Given the description of an element on the screen output the (x, y) to click on. 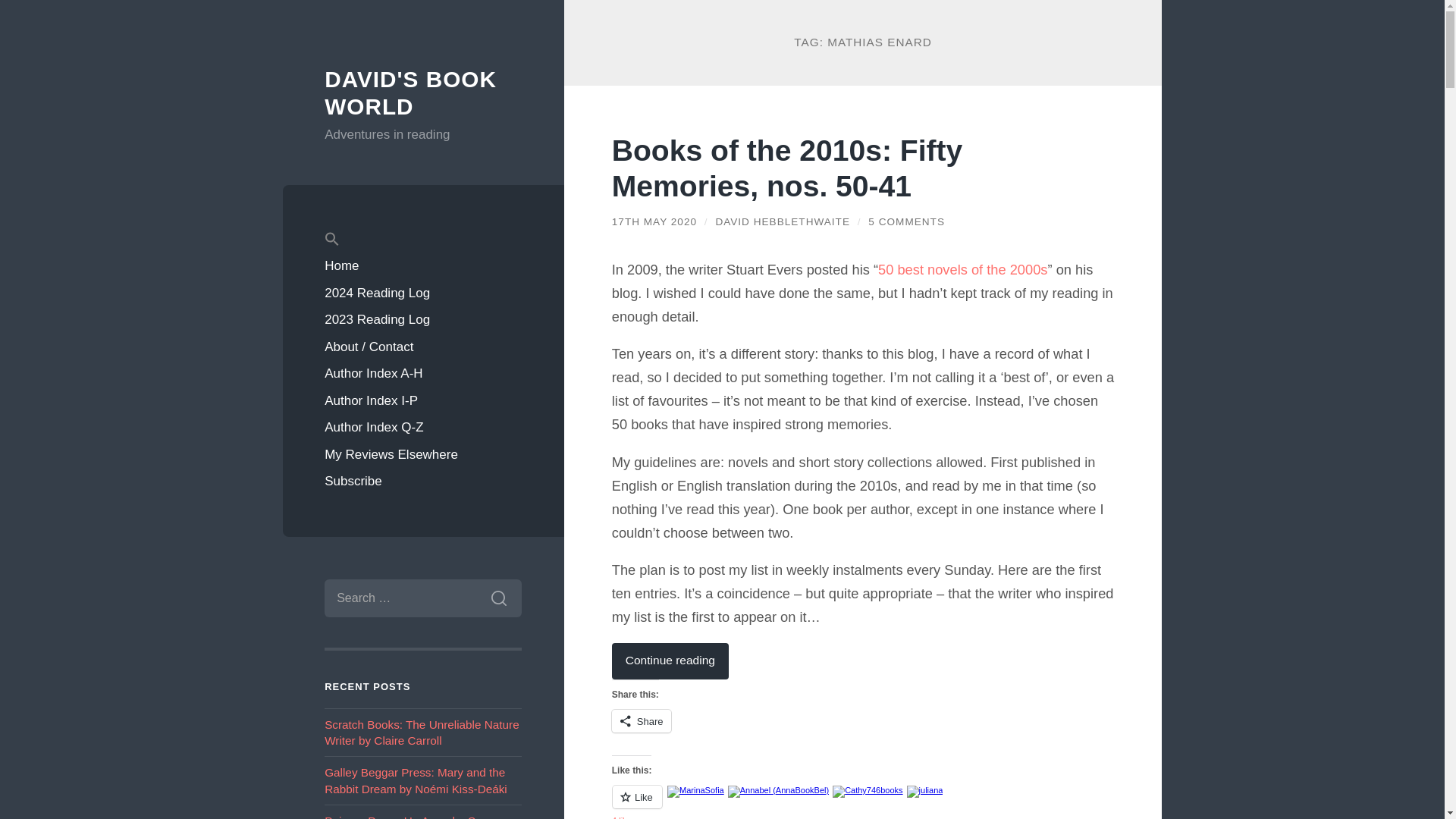
Subscribe (422, 481)
Author Index I-P (422, 400)
Home (422, 266)
Posts by David Hebblethwaite (782, 221)
Author Index A-H (422, 373)
Search (498, 598)
My Reviews Elsewhere (422, 454)
DAVID'S BOOK WORLD (410, 92)
Author Index Q-Z (422, 427)
